Given the description of an element on the screen output the (x, y) to click on. 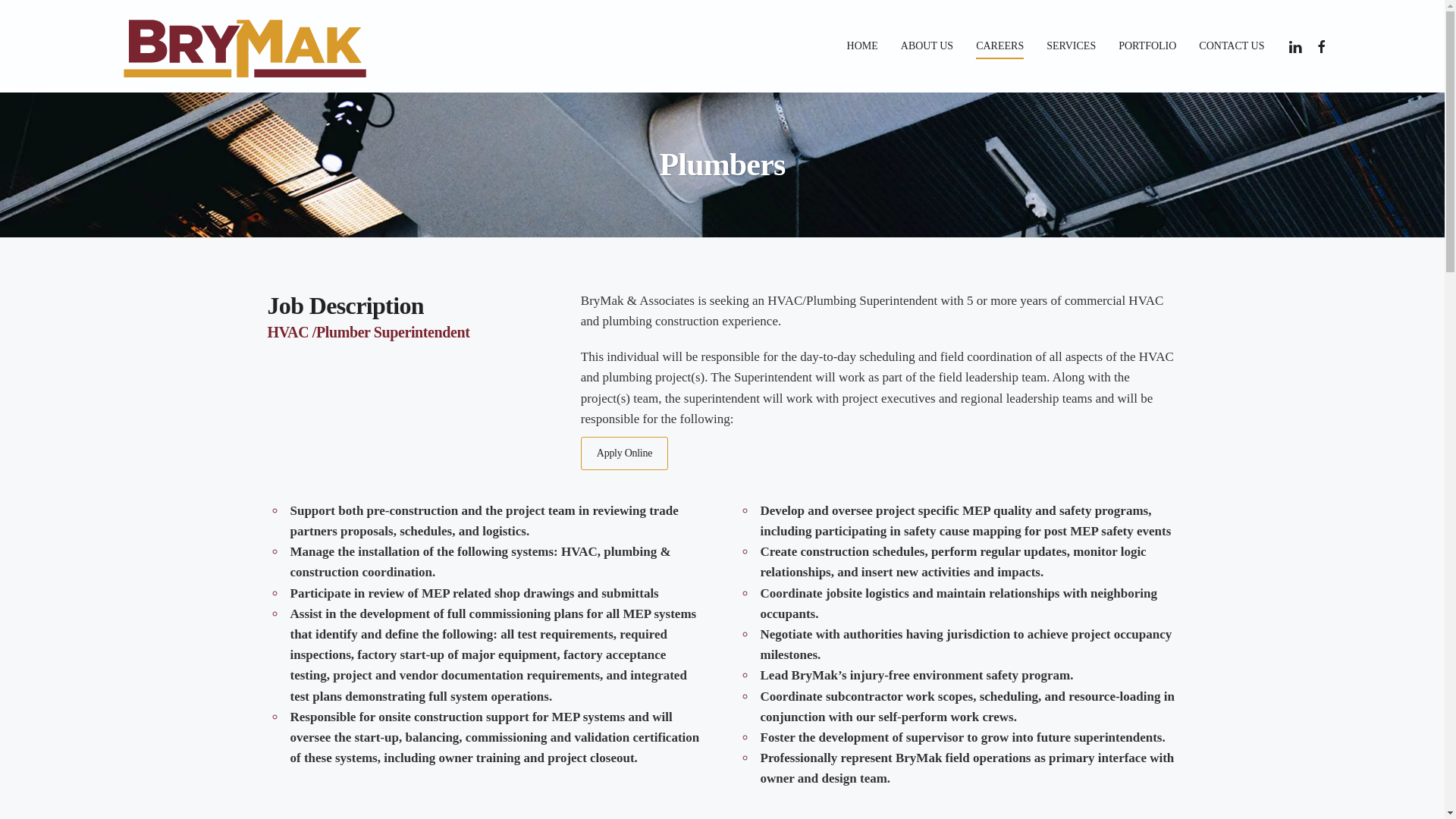
PORTFOLIO (1147, 45)
Apply Online (624, 453)
CAREERS (999, 45)
HOME (862, 45)
ABOUT US (927, 45)
SERVICES (1071, 45)
CONTACT US (1230, 45)
